Given the description of an element on the screen output the (x, y) to click on. 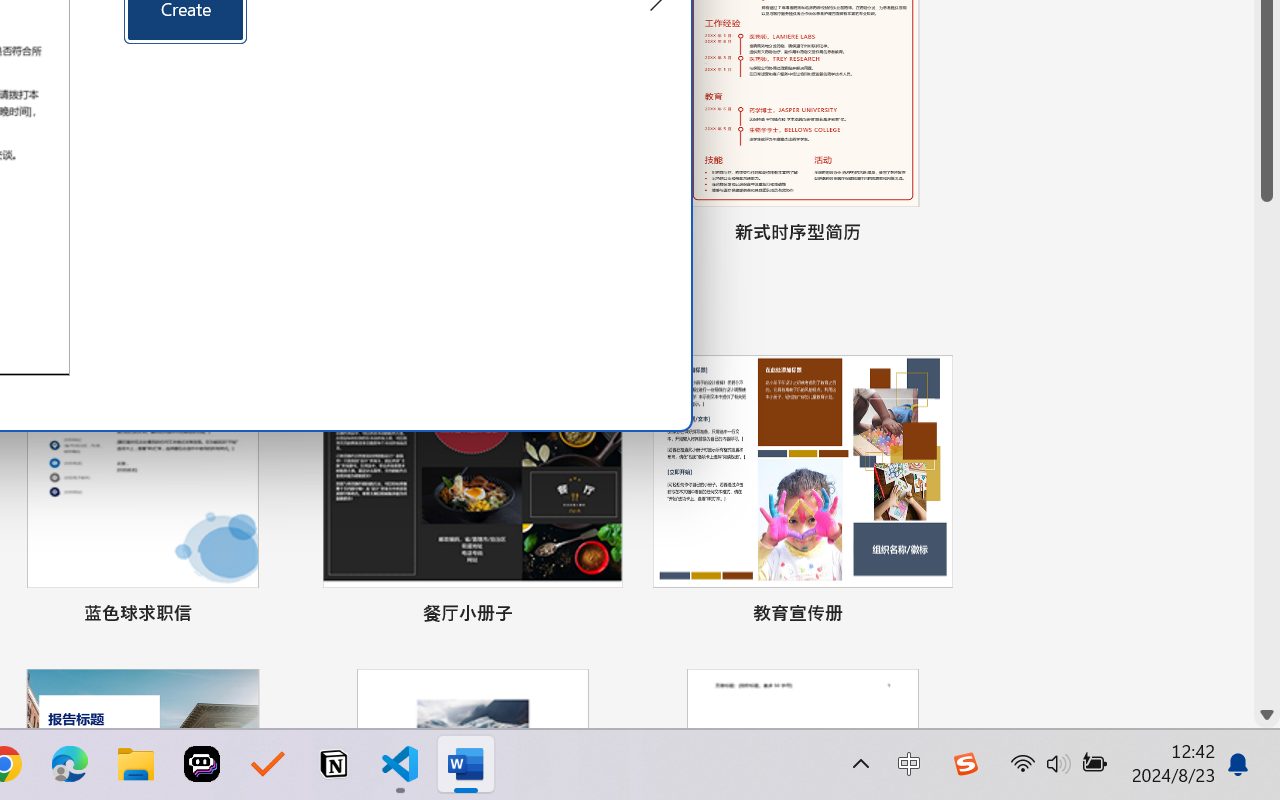
Pin to list (934, 616)
